Given the description of an element on the screen output the (x, y) to click on. 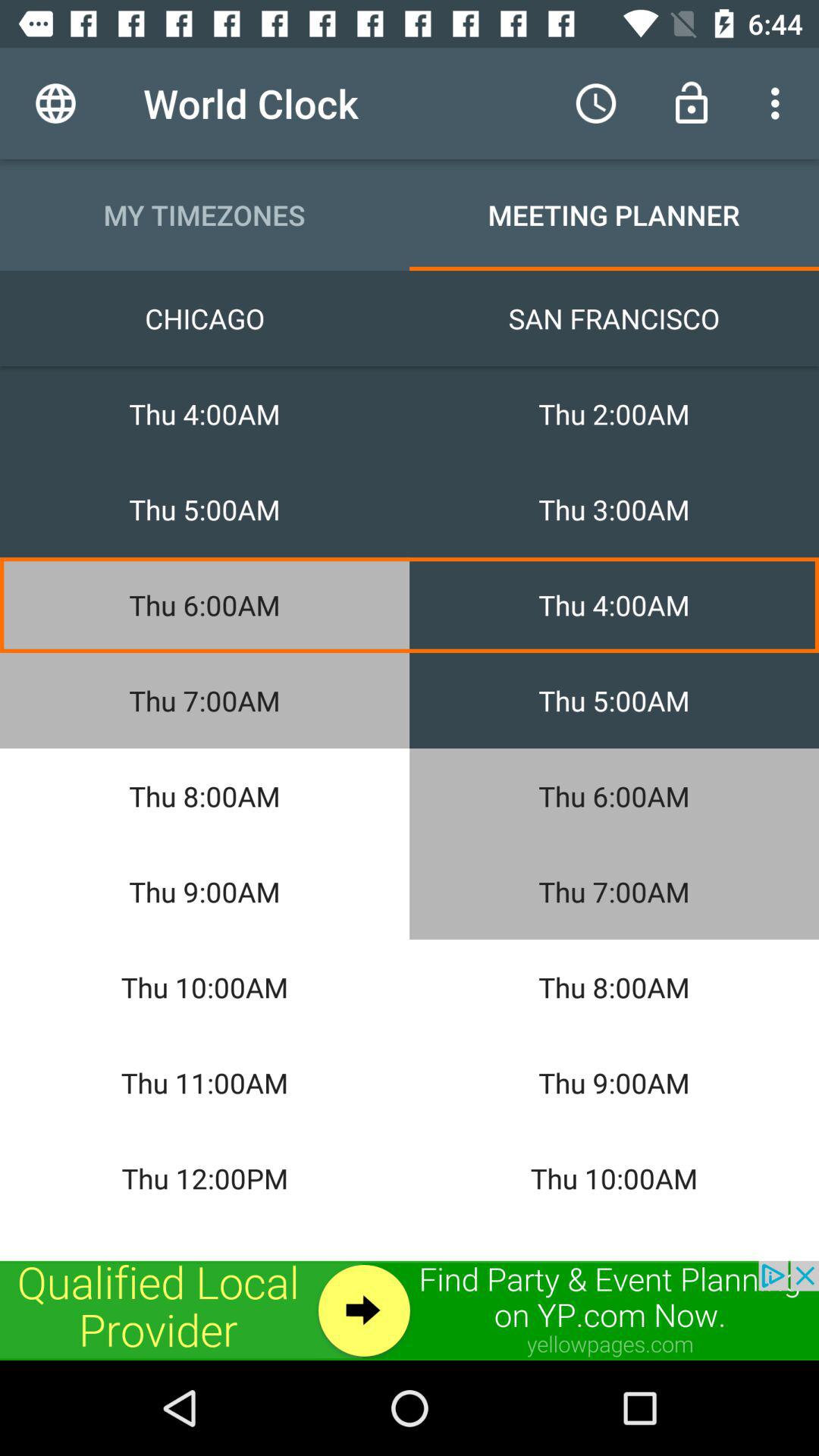
advertisement for event planning on yp.com (409, 1310)
